Given the description of an element on the screen output the (x, y) to click on. 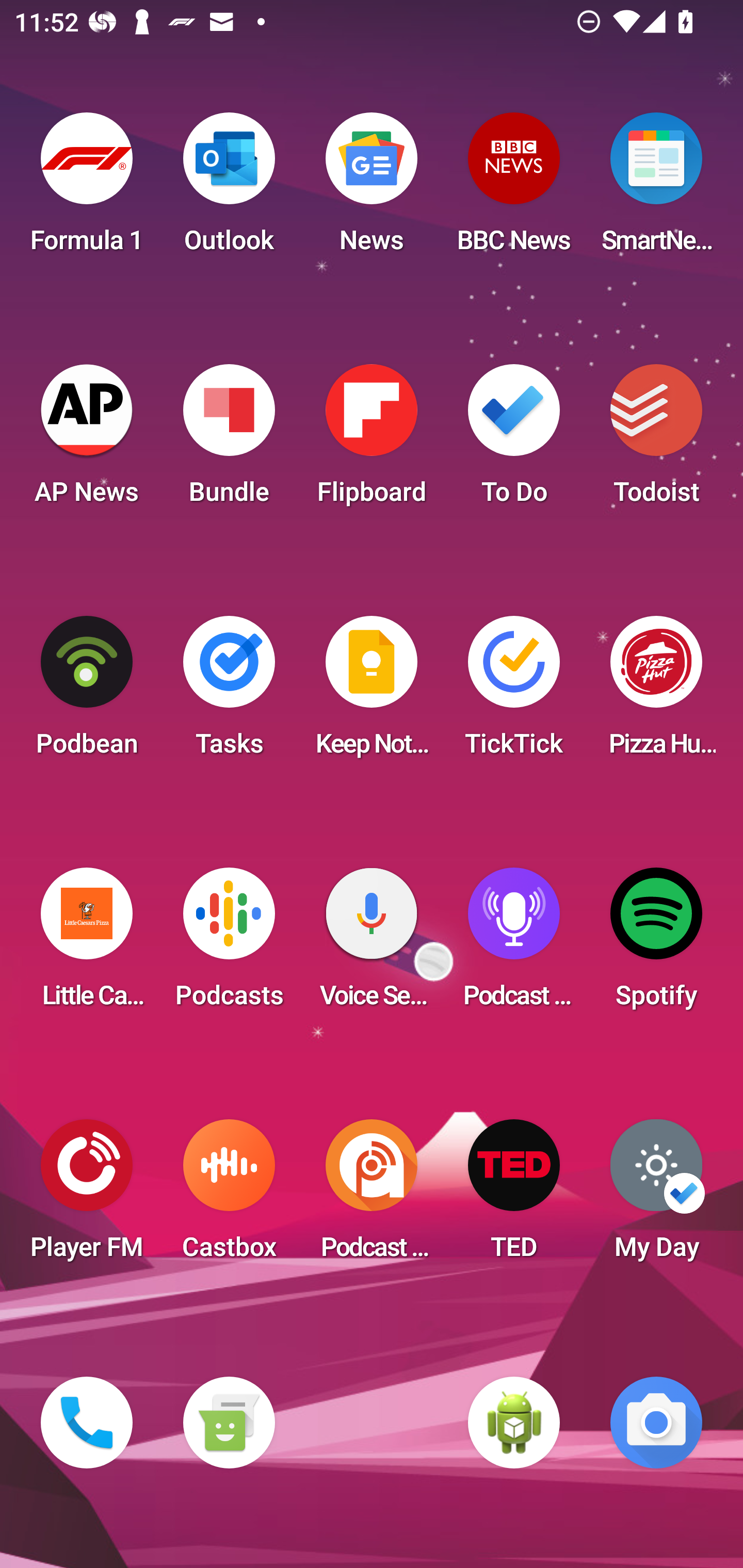
Formula 1 (86, 188)
Outlook (228, 188)
News (371, 188)
BBC News (513, 188)
SmartNews (656, 188)
AP News (86, 440)
Bundle (228, 440)
Flipboard (371, 440)
To Do (513, 440)
Todoist (656, 440)
Podbean (86, 692)
Tasks (228, 692)
Keep Notes (371, 692)
TickTick (513, 692)
Pizza Hut HK & Macau (656, 692)
Little Caesars Pizza (86, 943)
Podcasts (228, 943)
Voice Search (371, 943)
Podcast Player (513, 943)
Spotify (656, 943)
Player FM (86, 1195)
Castbox (228, 1195)
Podcast Addict (371, 1195)
TED (513, 1195)
My Day (656, 1195)
Phone (86, 1422)
Messaging (228, 1422)
WebView Browser Tester (513, 1422)
Camera (656, 1422)
